Given the description of an element on the screen output the (x, y) to click on. 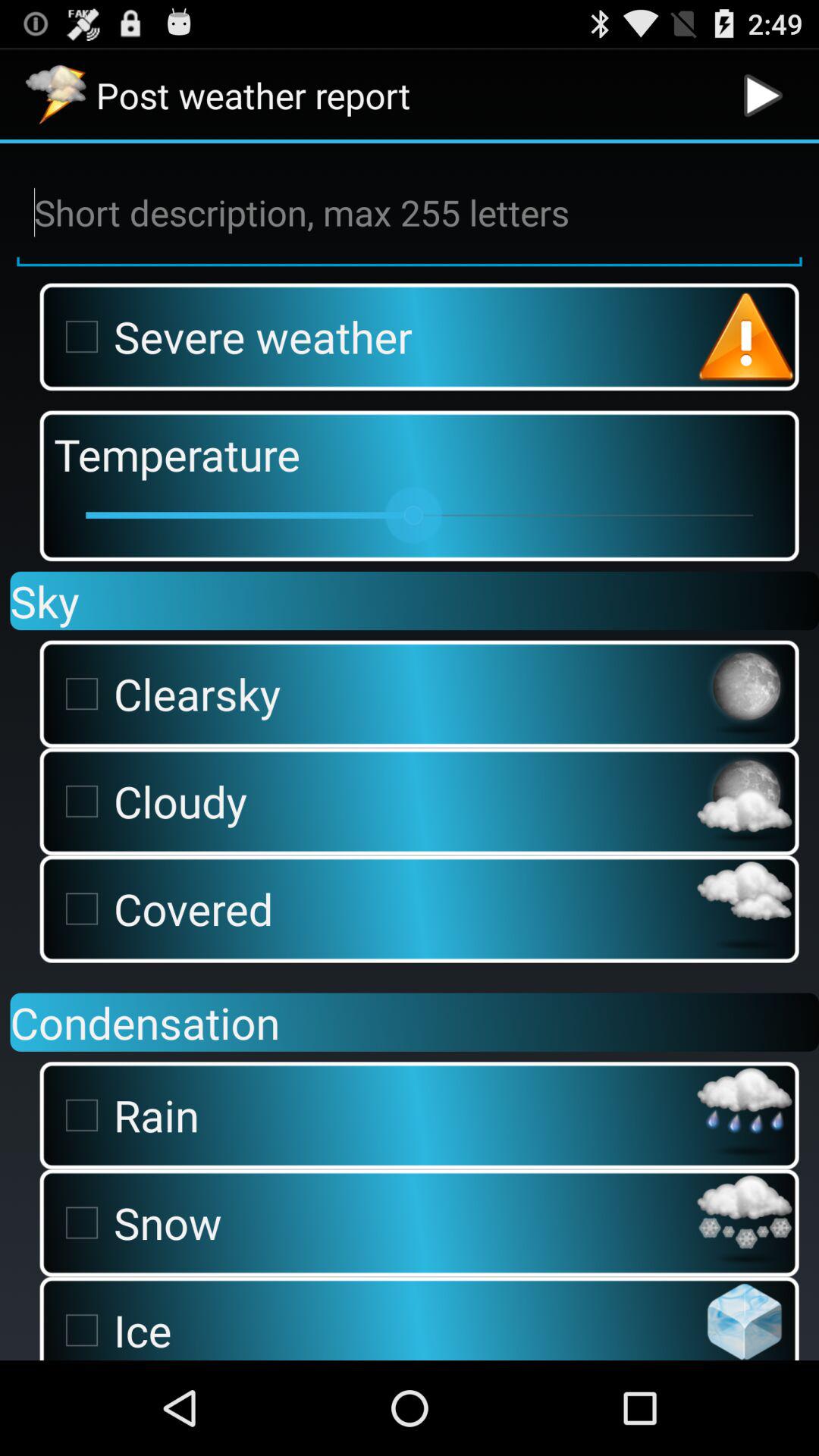
go forward (763, 95)
